Given the description of an element on the screen output the (x, y) to click on. 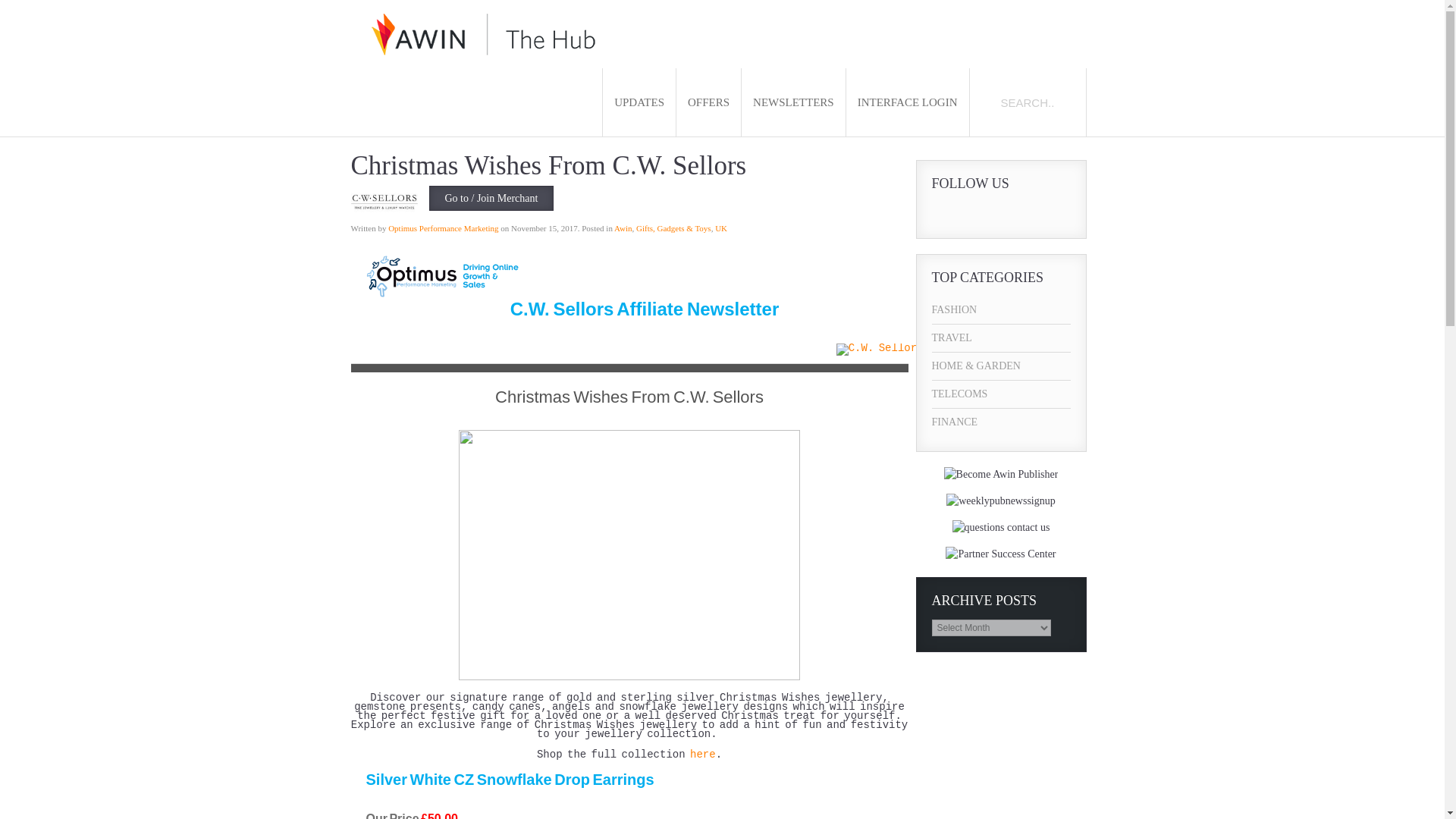
C.W. Sellors Affiliate Newsletter (644, 314)
Reset (3, 2)
NEWSLETTERS (793, 102)
here (703, 754)
OFFERS (708, 102)
Optimus Performance Marketing (442, 227)
UPDATES (639, 102)
Awin (622, 227)
Optimus Performance Marketing (442, 227)
INTERFACE LOGIN (907, 102)
